Given the description of an element on the screen output the (x, y) to click on. 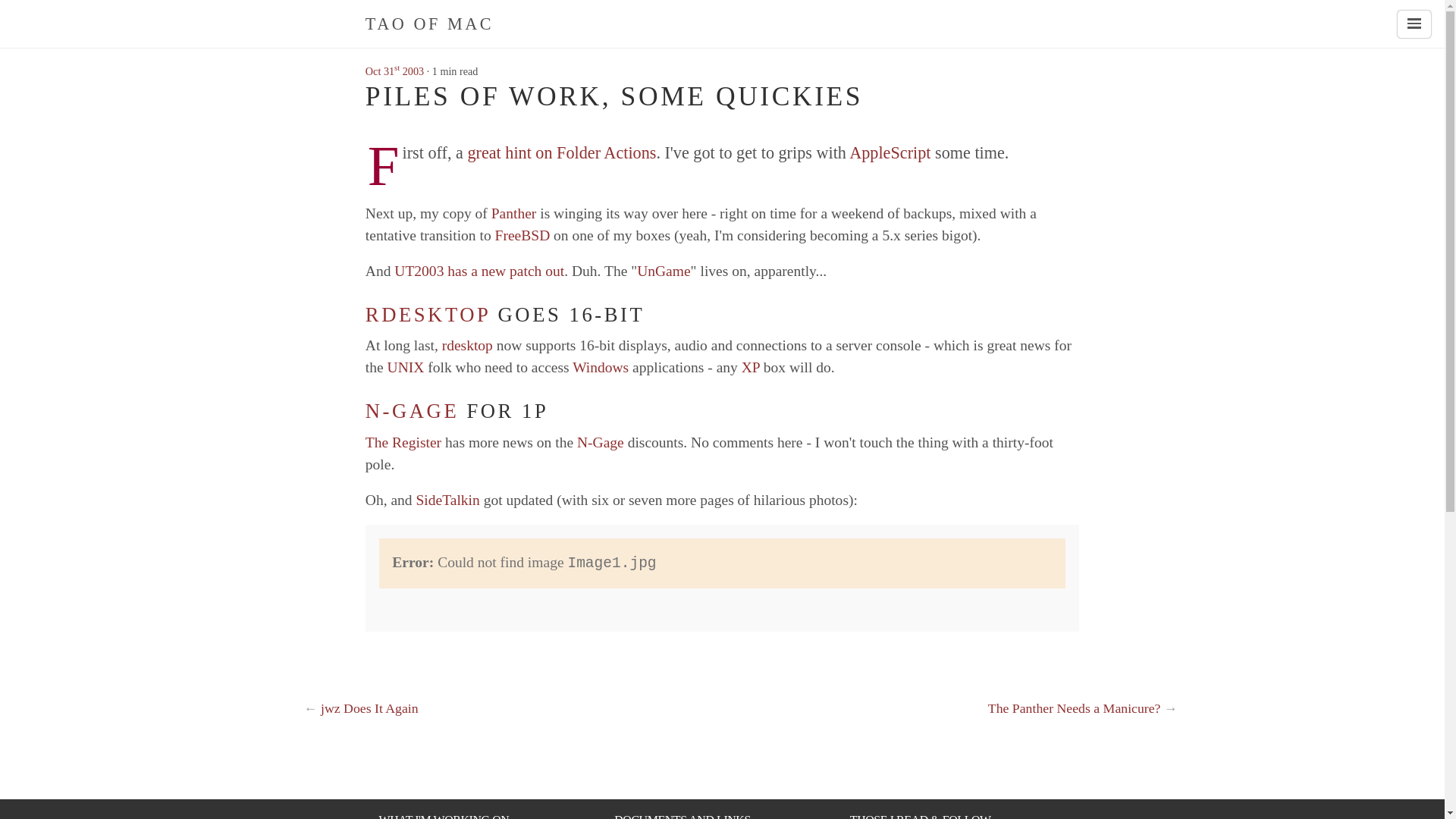
N-Gage (600, 442)
PILES OF WORK, SOME QUICKIES (614, 96)
UnGame (663, 270)
XP (750, 367)
SideTalkin (448, 499)
great hint on Folder Actions (561, 152)
rdesktop (467, 344)
RDESKTOP (427, 314)
AppleScript (889, 152)
UNIX (406, 367)
